Given the description of an element on the screen output the (x, y) to click on. 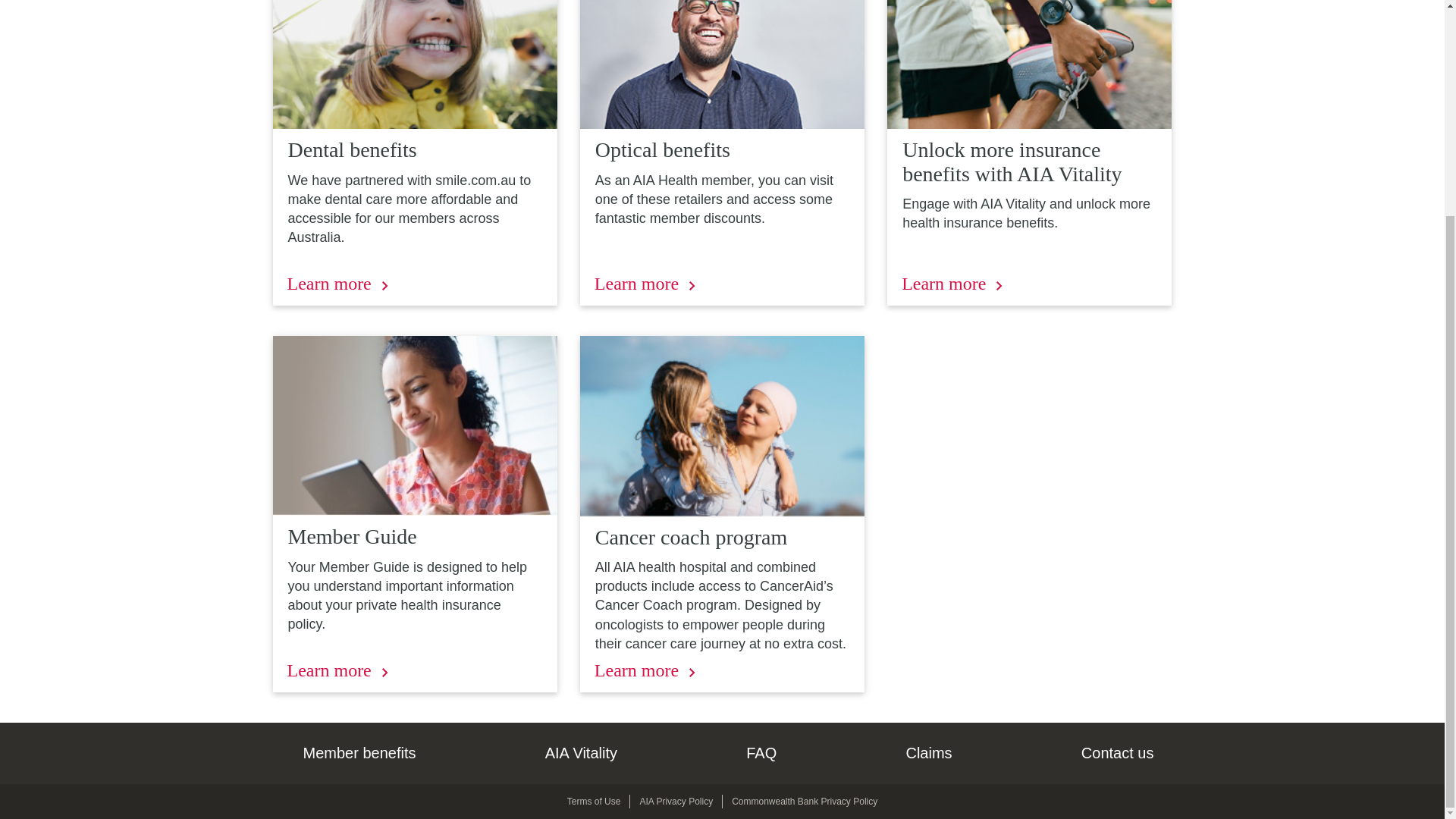
AIA Vitality (580, 752)
Contact us (1117, 752)
Learn more (336, 283)
Claims (928, 752)
Learn more (644, 283)
Learn more (336, 670)
Commonwealth Bank Privacy Policy (804, 801)
Learn more (952, 283)
Terms of Use (594, 801)
Member benefits (359, 752)
